Given the description of an element on the screen output the (x, y) to click on. 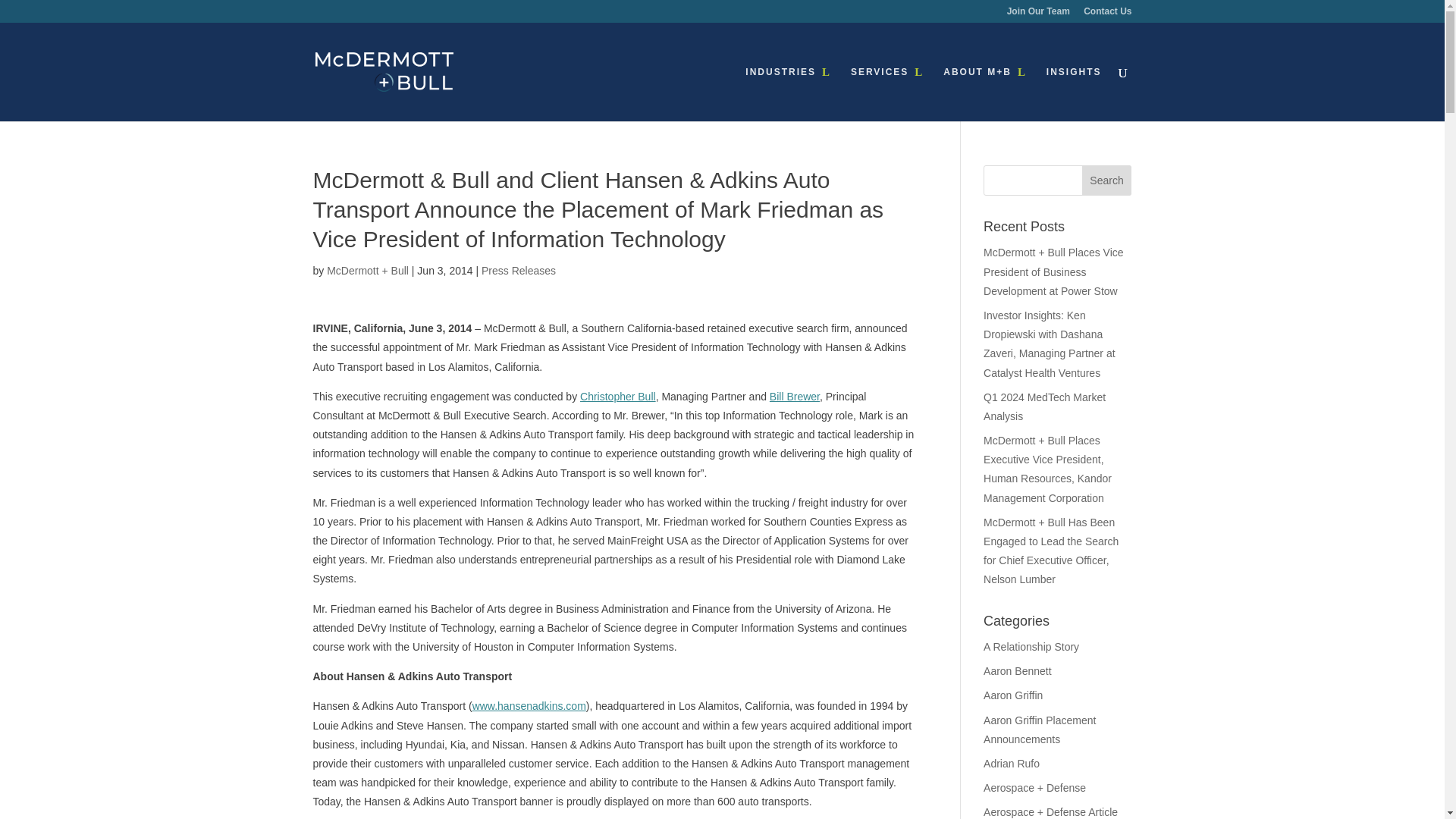
Join Our Team (1038, 14)
SERVICES (886, 93)
Search (1106, 180)
Contact Us (1107, 14)
INSIGHTS (1074, 93)
INDUSTRIES (788, 93)
